Given the description of an element on the screen output the (x, y) to click on. 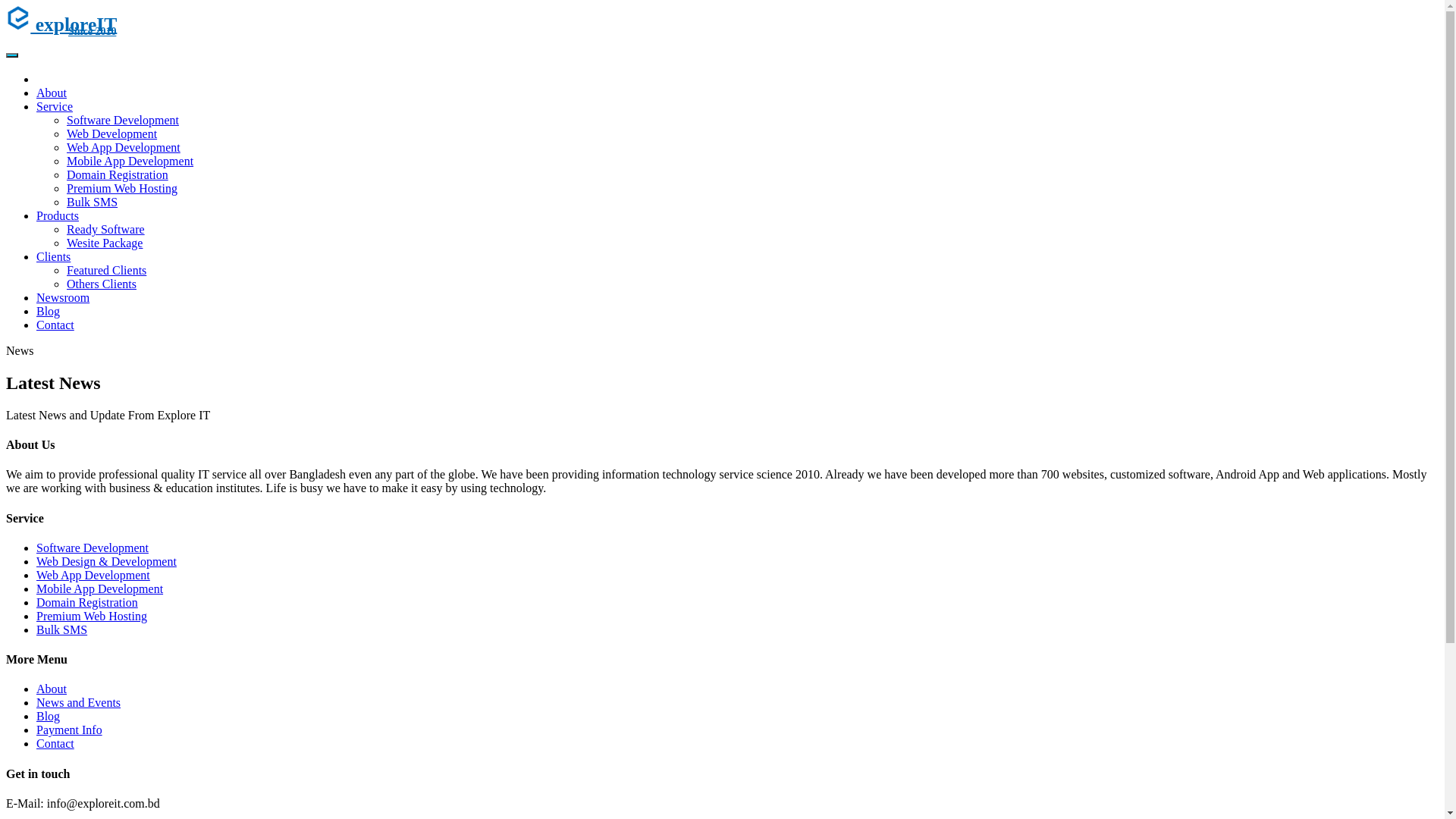
Featured Clients Element type: text (106, 269)
Domain Registration Element type: text (117, 174)
Mobile App Development Element type: text (129, 160)
Web App Development Element type: text (123, 147)
Web Development Element type: text (111, 133)
exploreIT
Since 2010 Element type: text (722, 36)
Payment Info Element type: text (69, 729)
Contact Element type: text (55, 743)
Bulk SMS Element type: text (61, 629)
Others Clients Element type: text (101, 283)
Domain Registration Element type: text (87, 602)
Service Element type: text (54, 106)
Ready Software Element type: text (105, 228)
Web App Development Element type: text (93, 574)
Premium Web Hosting Element type: text (121, 188)
Newsroom Element type: text (62, 297)
Wesite Package Element type: text (104, 242)
Premium Web Hosting Element type: text (91, 615)
About Element type: text (51, 92)
Web Design & Development Element type: text (106, 561)
Products Element type: text (57, 215)
News and Events Element type: text (78, 702)
Software Development Element type: text (122, 119)
Blog Element type: text (47, 715)
Bulk SMS Element type: text (91, 201)
Mobile App Development Element type: text (99, 588)
Blog Element type: text (47, 310)
Clients Element type: text (53, 256)
Software Development Element type: text (92, 547)
About Element type: text (51, 688)
Contact Element type: text (55, 324)
